Given the description of an element on the screen output the (x, y) to click on. 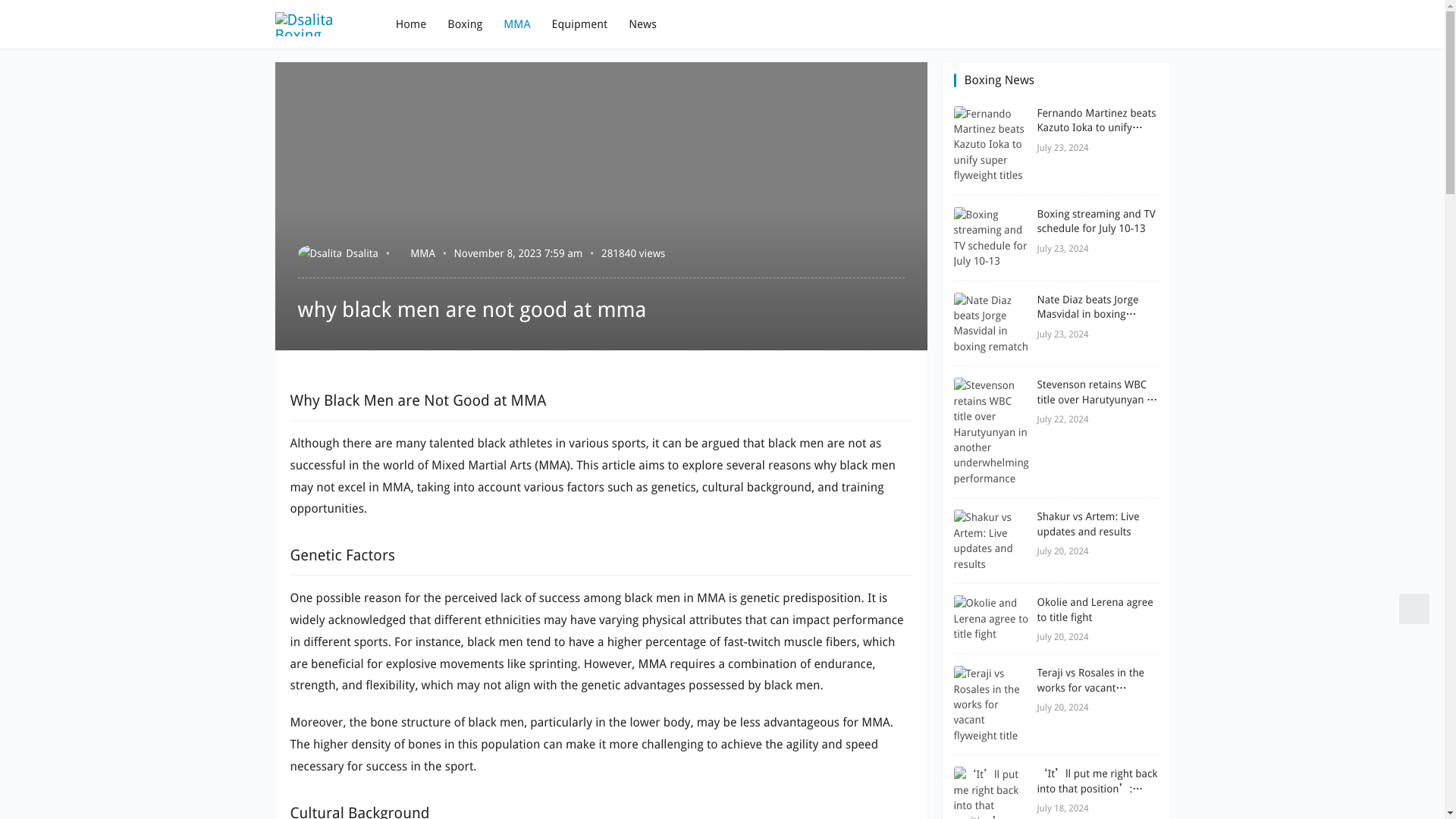
News (642, 24)
Boxing (463, 24)
MMA (422, 253)
MMA (516, 24)
Dsalita (337, 253)
Home (411, 24)
Equipment (579, 24)
